Given the description of an element on the screen output the (x, y) to click on. 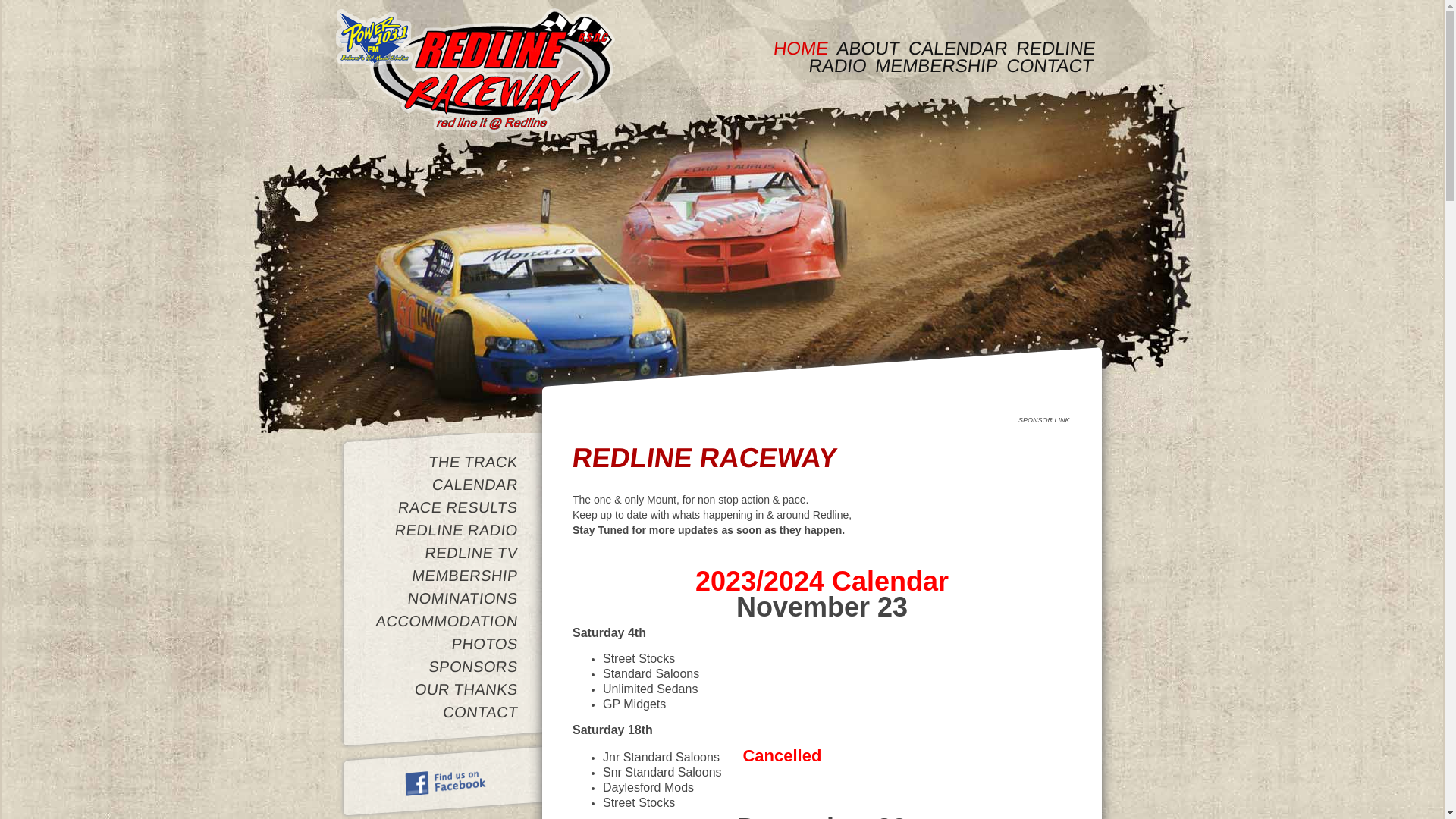
REDLINE RADIO Element type: text (949, 56)
CONTACT Element type: text (445, 711)
Find us on facebook Element type: hover (445, 777)
ACCOMMODATION Element type: text (445, 620)
RACE RESULTS Element type: text (445, 506)
REDLINE TV Element type: text (445, 552)
HOME Element type: text (798, 47)
OUR THANKS Element type: text (445, 688)
PHOTOS Element type: text (445, 643)
SPONSORS Element type: text (445, 666)
REDLINE RADIO Element type: text (445, 529)
Redline Raceway Element type: hover (475, 70)
CALENDAR Element type: text (445, 484)
CALENDAR Element type: text (956, 47)
CONTACT Element type: text (1047, 65)
MEMBERSHIP Element type: text (445, 575)
NOMINATIONS Element type: text (445, 597)
ABOUT Element type: text (866, 47)
THE TRACK Element type: text (445, 461)
Formula V8s Element type: hover (721, 260)
MEMBERSHIP Element type: text (934, 65)
